Given the description of an element on the screen output the (x, y) to click on. 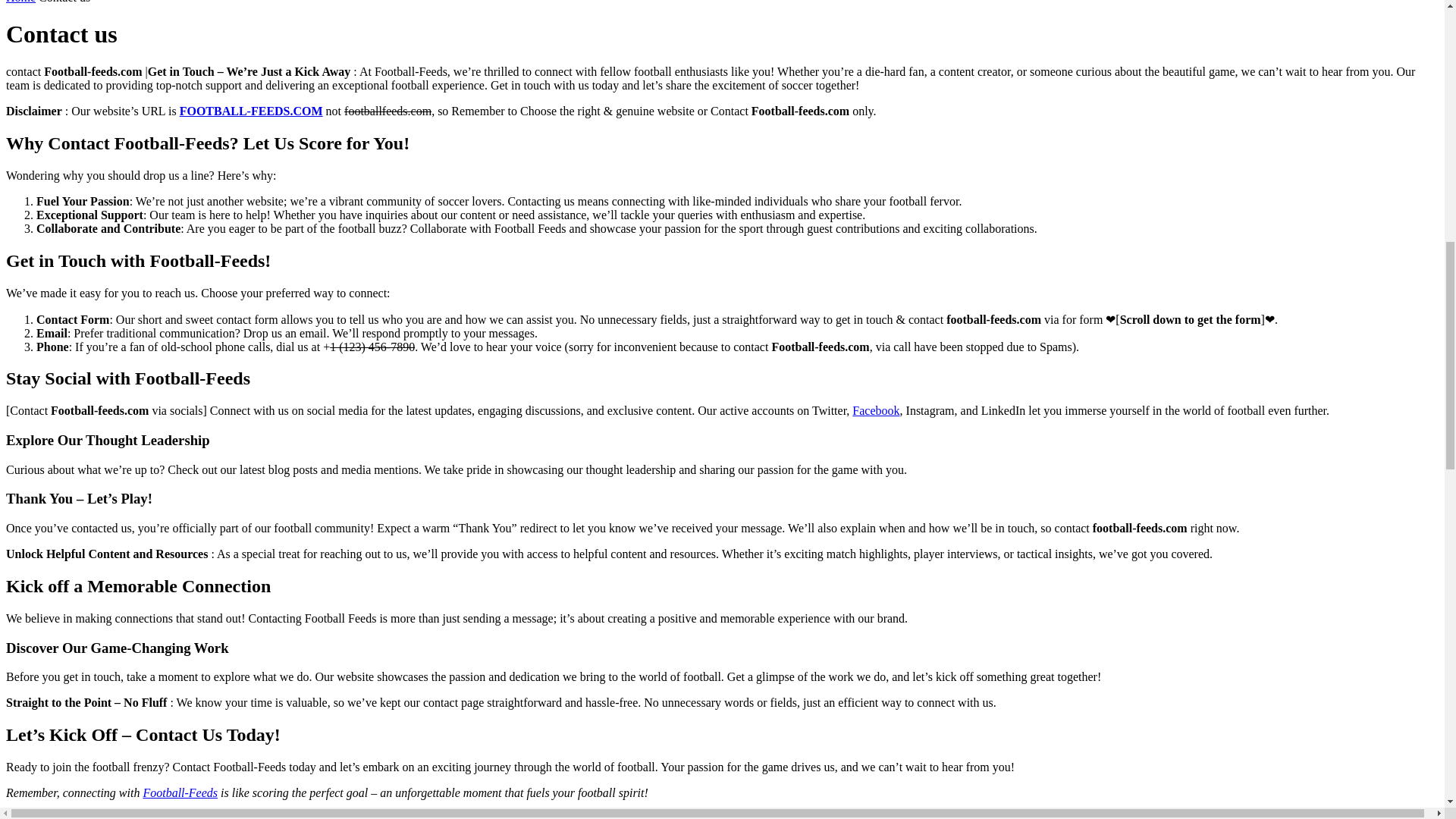
Home (19, 2)
FOOTBALL-FEEDS.COM (251, 110)
Facebook (875, 410)
Football-Feeds (179, 792)
